Given the description of an element on the screen output the (x, y) to click on. 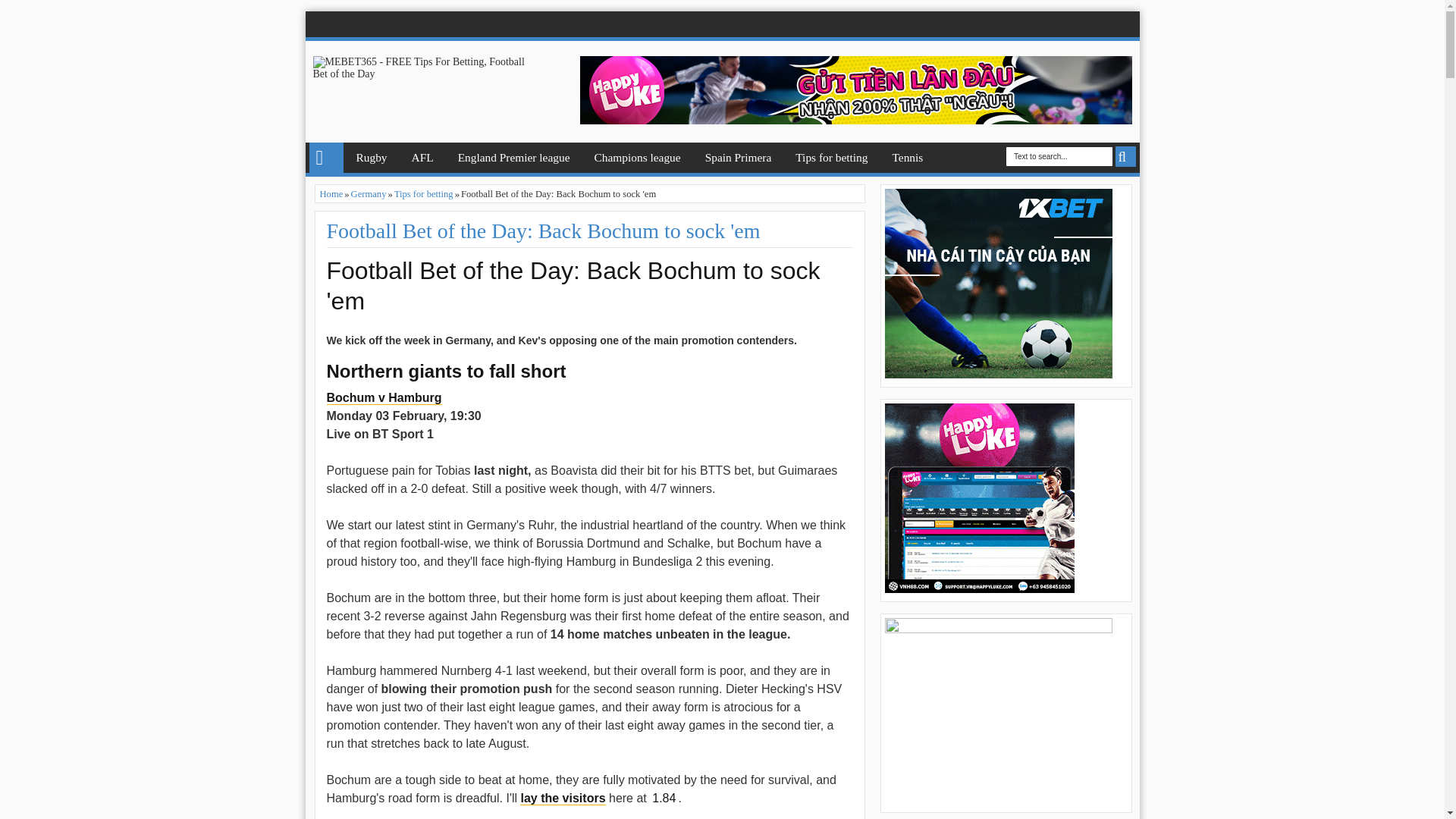
Linkedin (1039, 24)
twitter (997, 24)
facebook (976, 24)
Pinterest (1061, 24)
Twitter (997, 24)
Football Bet of the Day: Back Bochum to sock 'em (543, 230)
Tennis (907, 157)
RSS (1125, 24)
Vimeo (1103, 24)
Dribble (1083, 24)
Home (325, 157)
Text to search... (1059, 156)
RSS (1125, 24)
Search (1125, 156)
Vimeo (1103, 24)
